Given the description of an element on the screen output the (x, y) to click on. 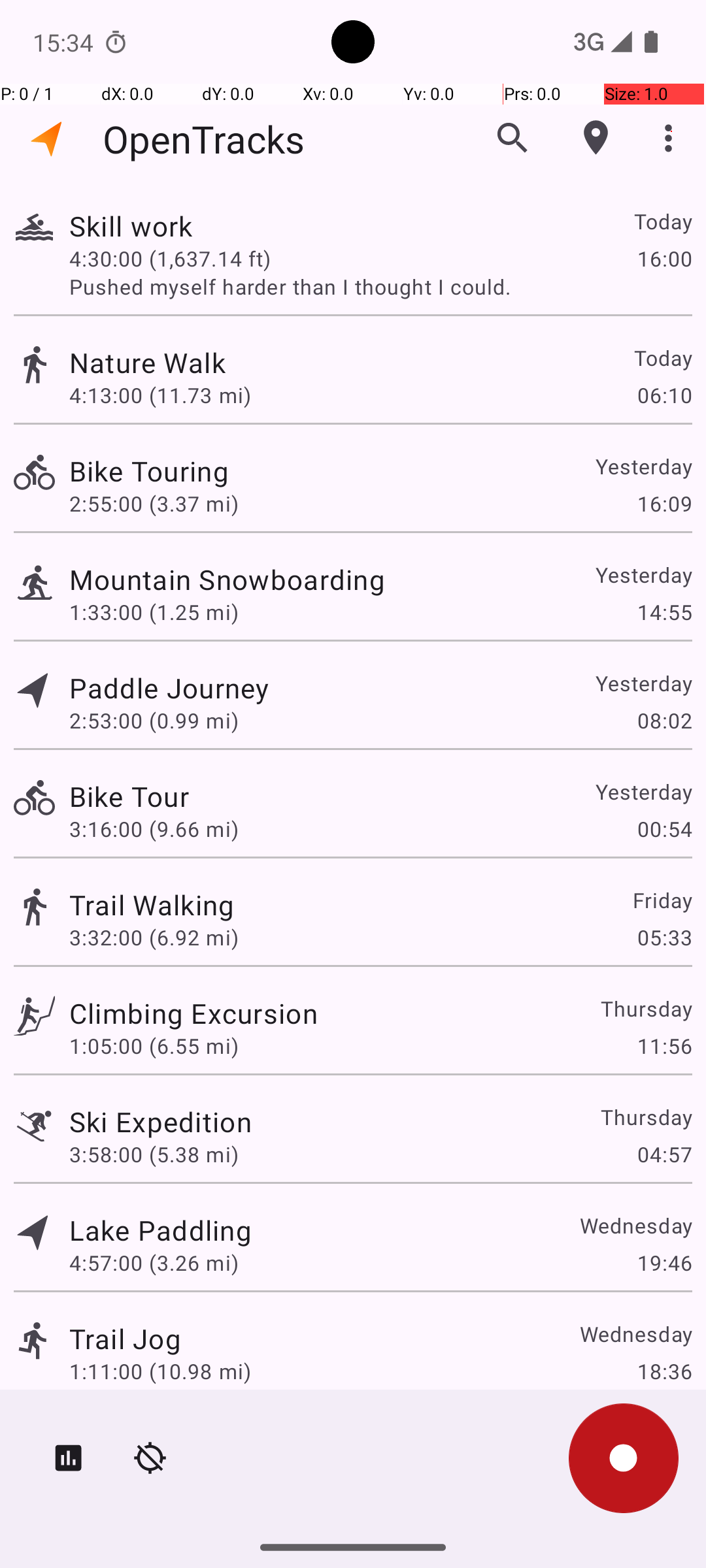
Skill work Element type: android.widget.TextView (130, 225)
4:30:00 (1,637.14 ft) Element type: android.widget.TextView (169, 258)
Pushed myself harder than I thought I could. Element type: android.widget.TextView (380, 286)
Nature Walk Element type: android.widget.TextView (147, 361)
4:13:00 (11.73 mi) Element type: android.widget.TextView (159, 394)
06:10 Element type: android.widget.TextView (664, 394)
Bike Touring Element type: android.widget.TextView (148, 470)
2:55:00 (3.37 mi) Element type: android.widget.TextView (153, 503)
16:09 Element type: android.widget.TextView (664, 503)
Mountain Snowboarding Element type: android.widget.TextView (226, 578)
1:33:00 (1.25 mi) Element type: android.widget.TextView (153, 611)
14:55 Element type: android.widget.TextView (664, 611)
2:53:00 (0.99 mi) Element type: android.widget.TextView (153, 720)
08:02 Element type: android.widget.TextView (664, 720)
Bike Tour Element type: android.widget.TextView (128, 795)
3:16:00 (9.66 mi) Element type: android.widget.TextView (153, 828)
00:54 Element type: android.widget.TextView (664, 828)
Trail Walking Element type: android.widget.TextView (151, 904)
3:32:00 (6.92 mi) Element type: android.widget.TextView (153, 937)
05:33 Element type: android.widget.TextView (664, 937)
Climbing Excursion Element type: android.widget.TextView (193, 1012)
1:05:00 (6.55 mi) Element type: android.widget.TextView (153, 1045)
11:56 Element type: android.widget.TextView (664, 1045)
Ski Expedition Element type: android.widget.TextView (160, 1121)
3:58:00 (5.38 mi) Element type: android.widget.TextView (153, 1154)
04:57 Element type: android.widget.TextView (664, 1154)
Lake Paddling Element type: android.widget.TextView (160, 1229)
4:57:00 (3.26 mi) Element type: android.widget.TextView (153, 1262)
19:46 Element type: android.widget.TextView (664, 1262)
Trail Jog Element type: android.widget.TextView (124, 1337)
1:11:00 (10.98 mi) Element type: android.widget.TextView (159, 1370)
18:36 Element type: android.widget.TextView (664, 1370)
